Given the description of an element on the screen output the (x, y) to click on. 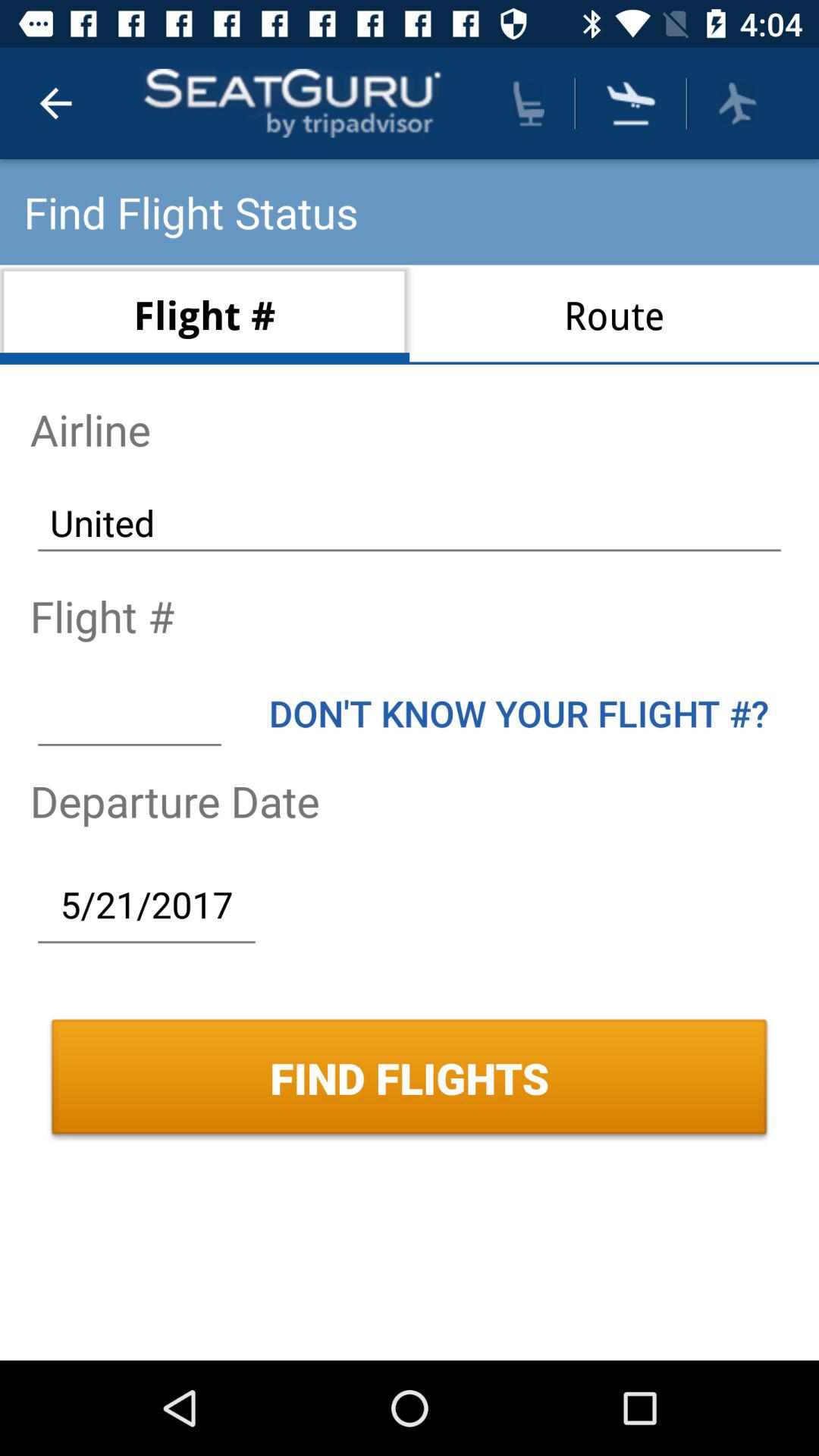
fill in info (129, 712)
